Given the description of an element on the screen output the (x, y) to click on. 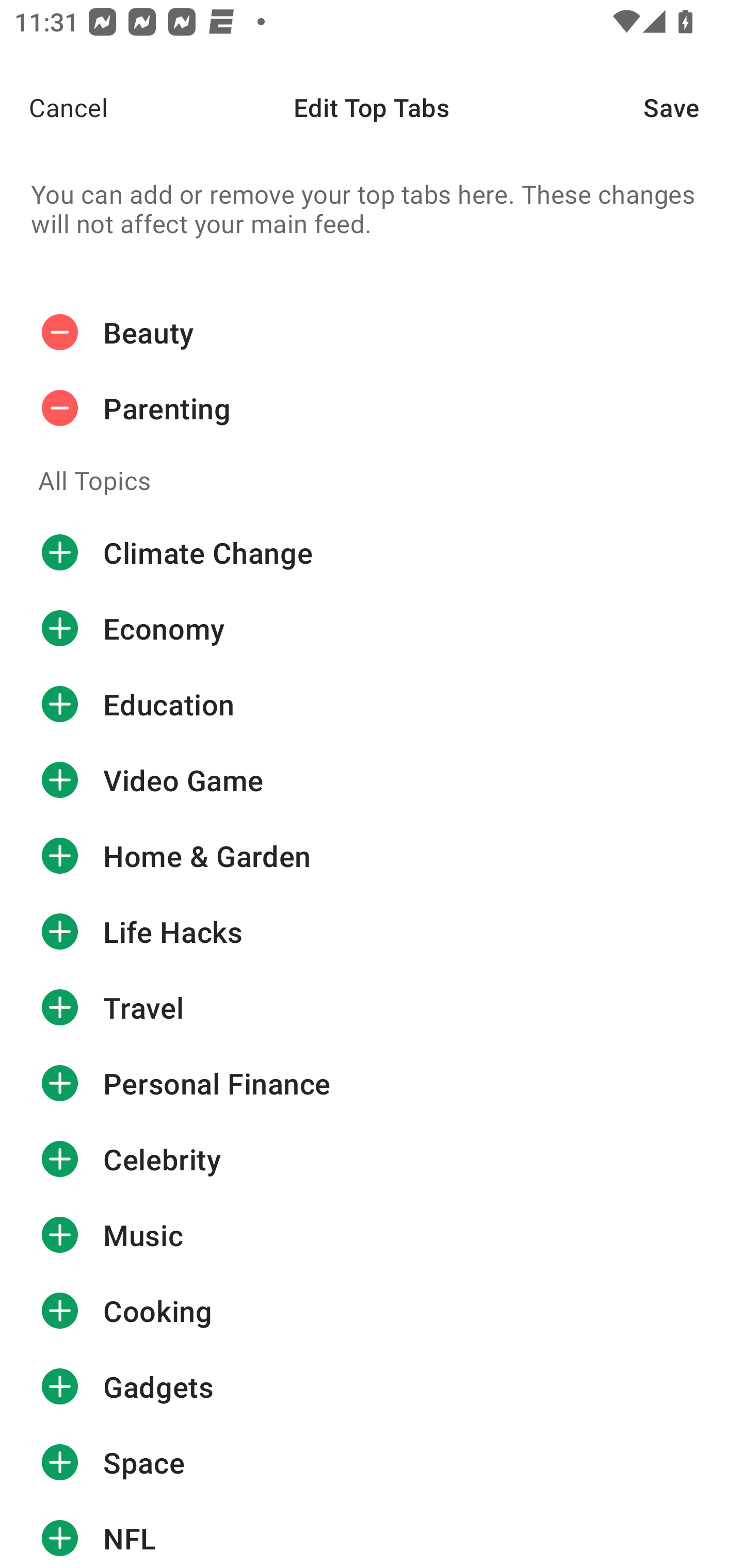
Cancel (53, 106)
Save (693, 106)
Beauty (371, 332)
Parenting (371, 408)
Climate Change (371, 552)
Economy (371, 628)
Education (371, 703)
Video Game (371, 779)
Home & Garden (371, 855)
Life Hacks (371, 931)
Travel (371, 1007)
Personal Finance (371, 1083)
Celebrity (371, 1158)
Music (371, 1234)
Cooking (371, 1310)
Gadgets (371, 1386)
Space (371, 1462)
NFL (371, 1534)
